Given the description of an element on the screen output the (x, y) to click on. 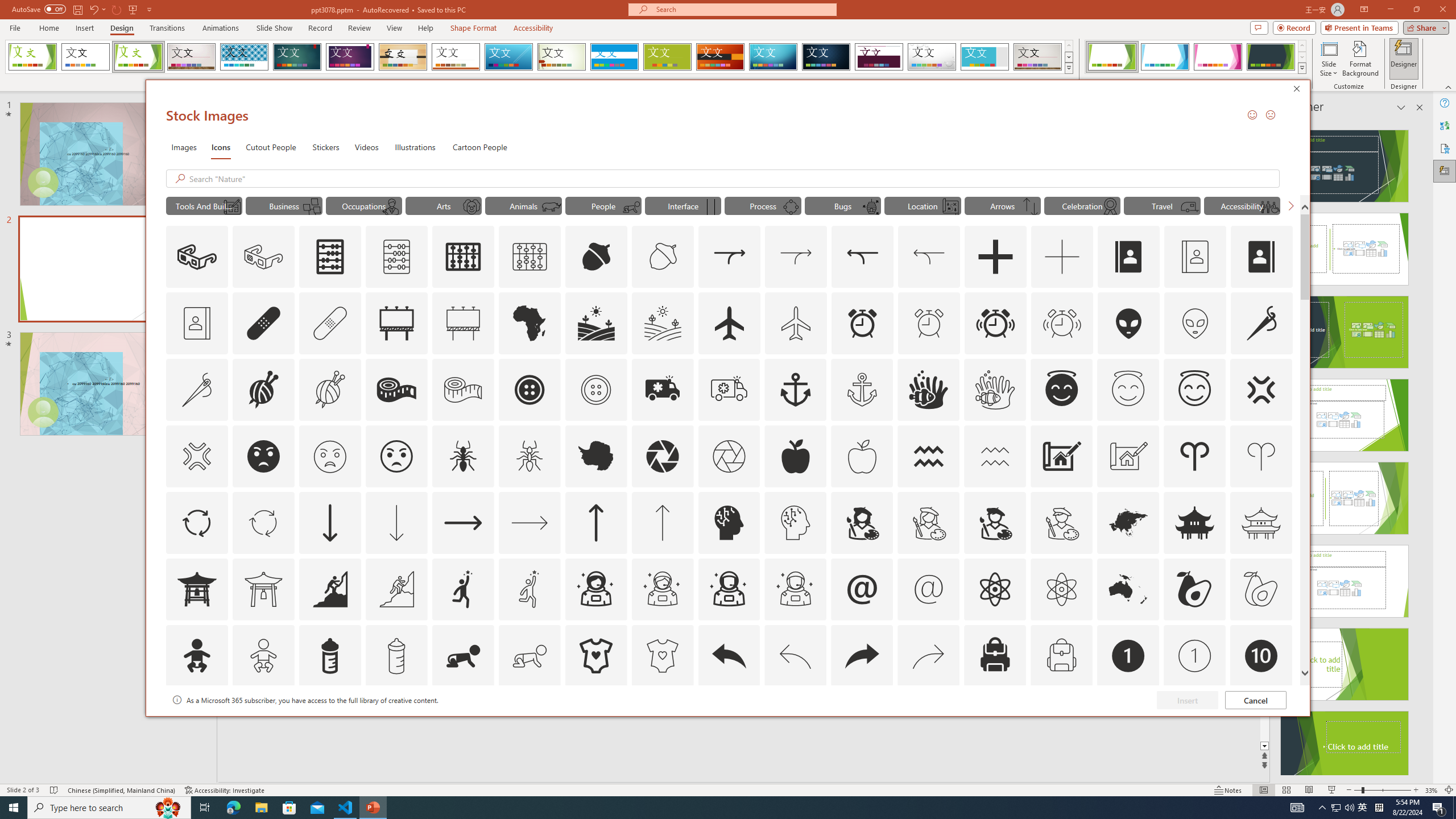
Thumbnail (1283, 699)
AutomationID: Icons_Badge1 (1128, 655)
AutomationID: Icons_Back_LTR_M (795, 655)
AutomationID: Icons_Aquarius_M (995, 455)
AutomationID: Icons_Backpack_M (1061, 655)
AutomationID: Icons_Add (995, 256)
"Travel" Icons. (1162, 205)
AutomationID: Icons_ArrowDown_M (395, 522)
AutomationID: Icons_ArtistFemale_M (928, 522)
